Given the description of an element on the screen output the (x, y) to click on. 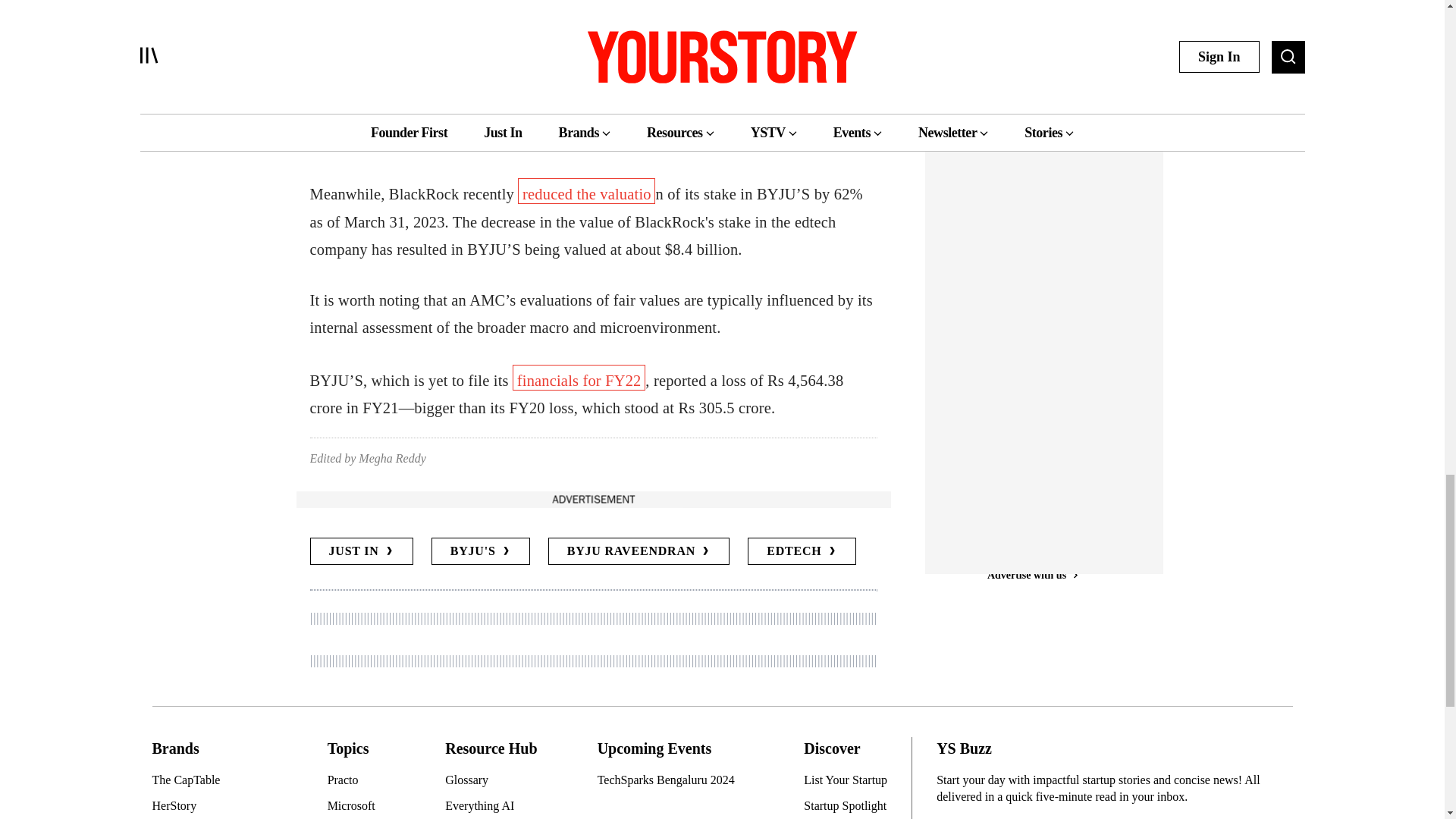
BYJU RAVEENDRAN (639, 551)
reduced the valuatio (586, 190)
financials for FY22 (578, 377)
Advertise with us (592, 498)
EDTECH (802, 551)
JUST IN (360, 551)
BYJU'S (479, 551)
